Given the description of an element on the screen output the (x, y) to click on. 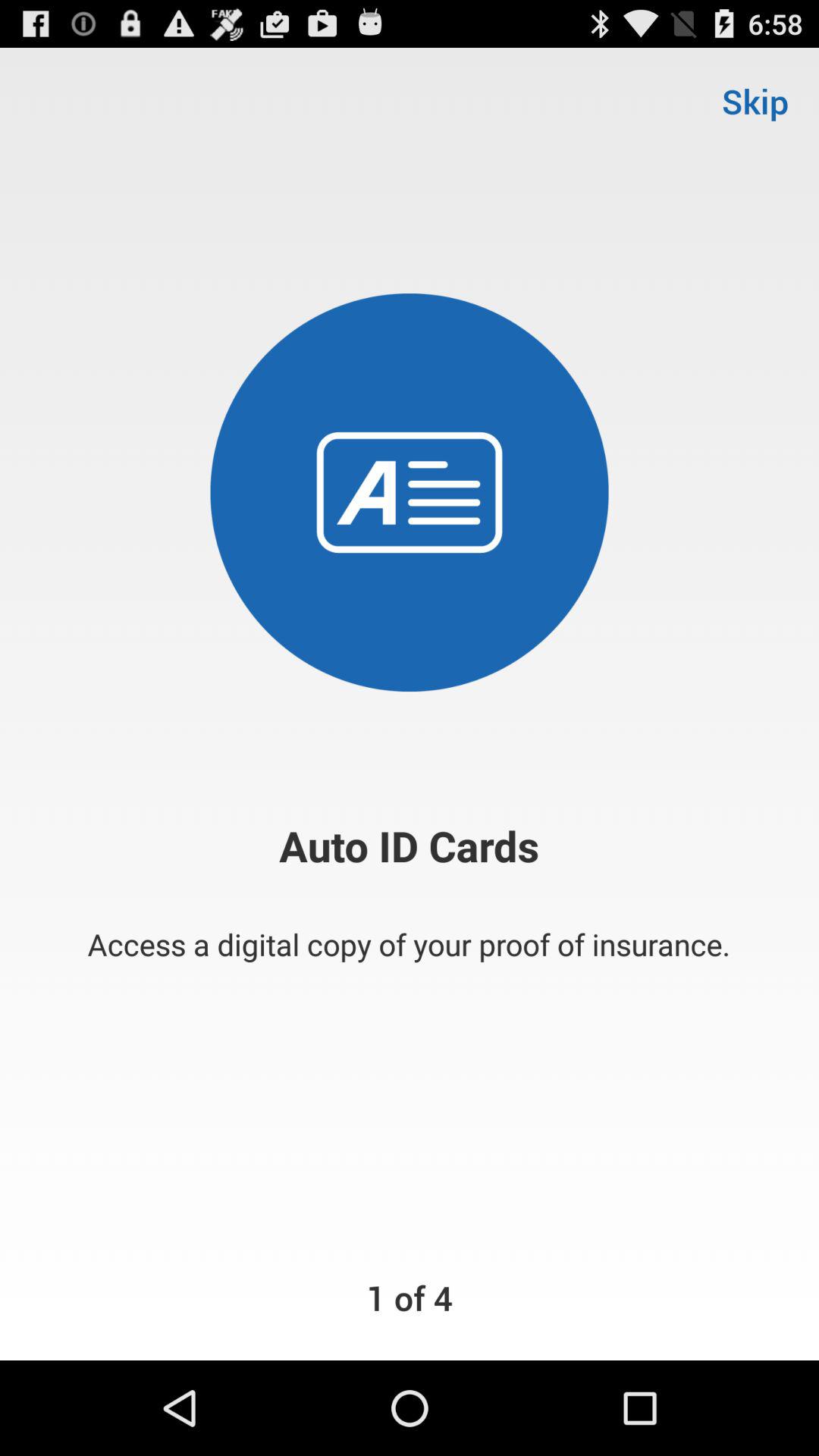
tap the icon above access a digital app (754, 100)
